Given the description of an element on the screen output the (x, y) to click on. 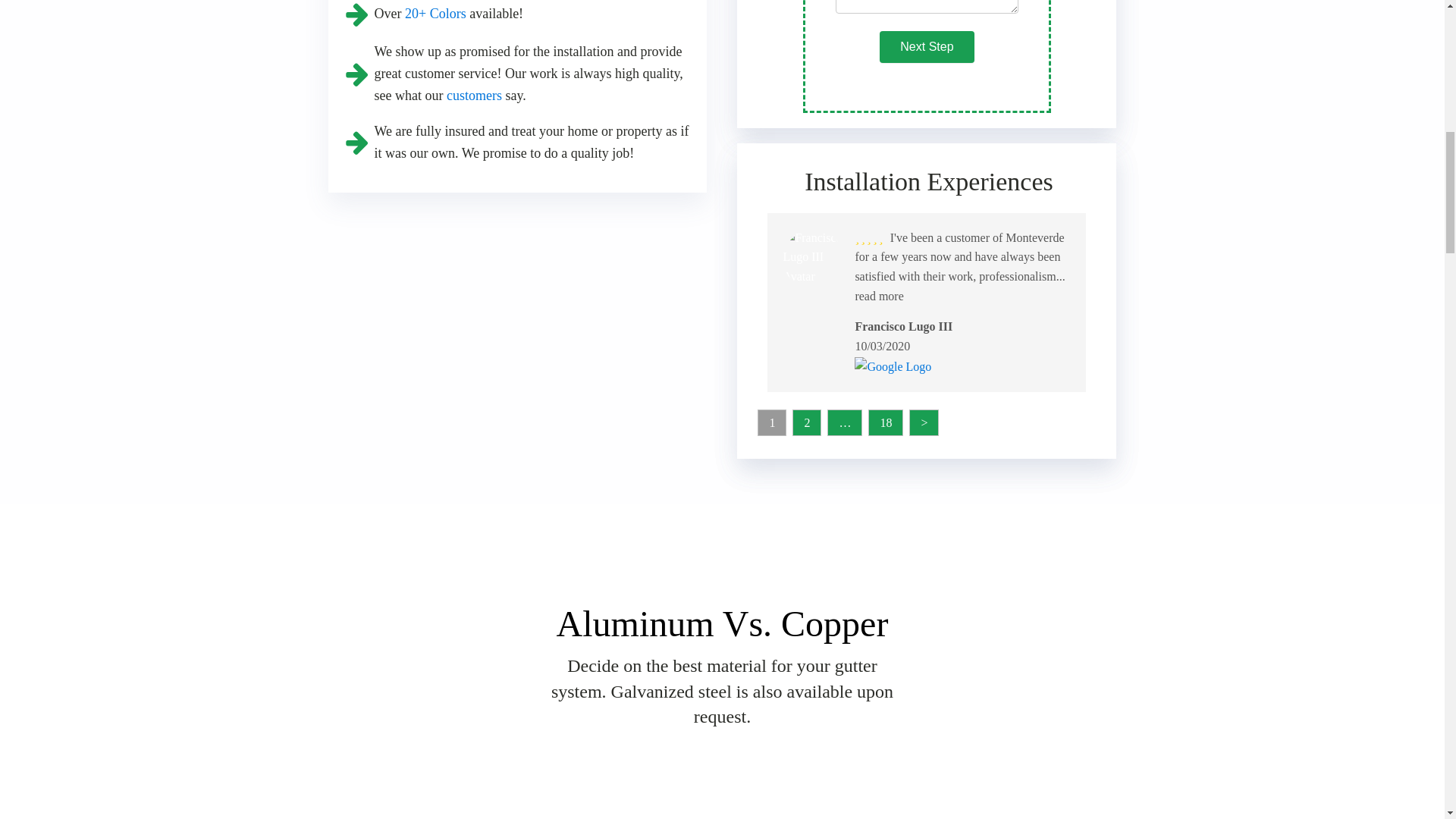
Next Step (926, 47)
customers (474, 95)
